Given the description of an element on the screen output the (x, y) to click on. 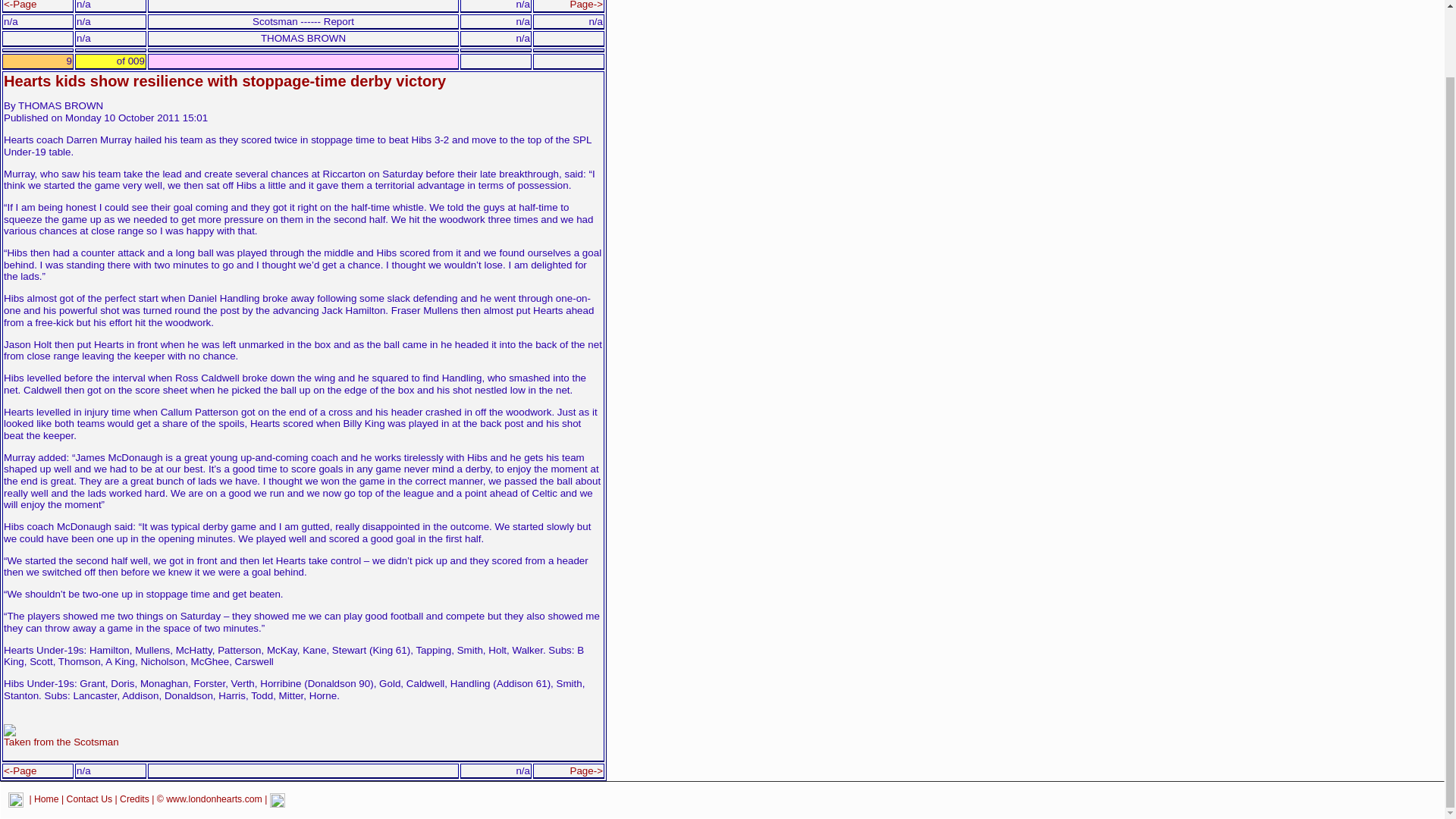
Credits (134, 799)
Taken from the Scotsman (61, 737)
Contact Us (89, 799)
Home (46, 799)
